Given the description of an element on the screen output the (x, y) to click on. 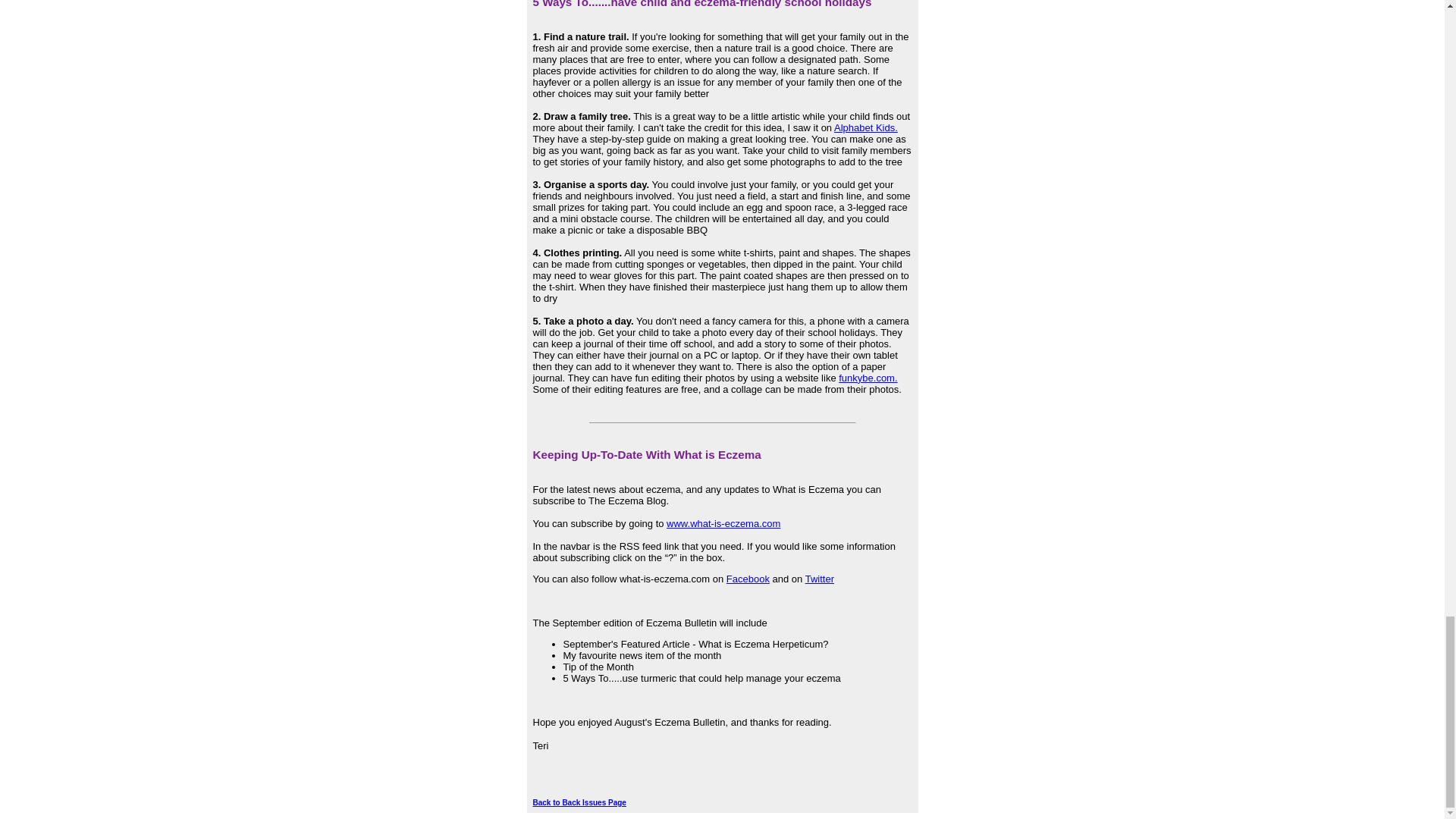
Twitter (819, 578)
Facebook (748, 578)
funkybe.com. (867, 378)
Alphabet Kids. (866, 127)
Back to Back Issues Page (579, 802)
www.what-is-eczema.com (723, 523)
